Given the description of an element on the screen output the (x, y) to click on. 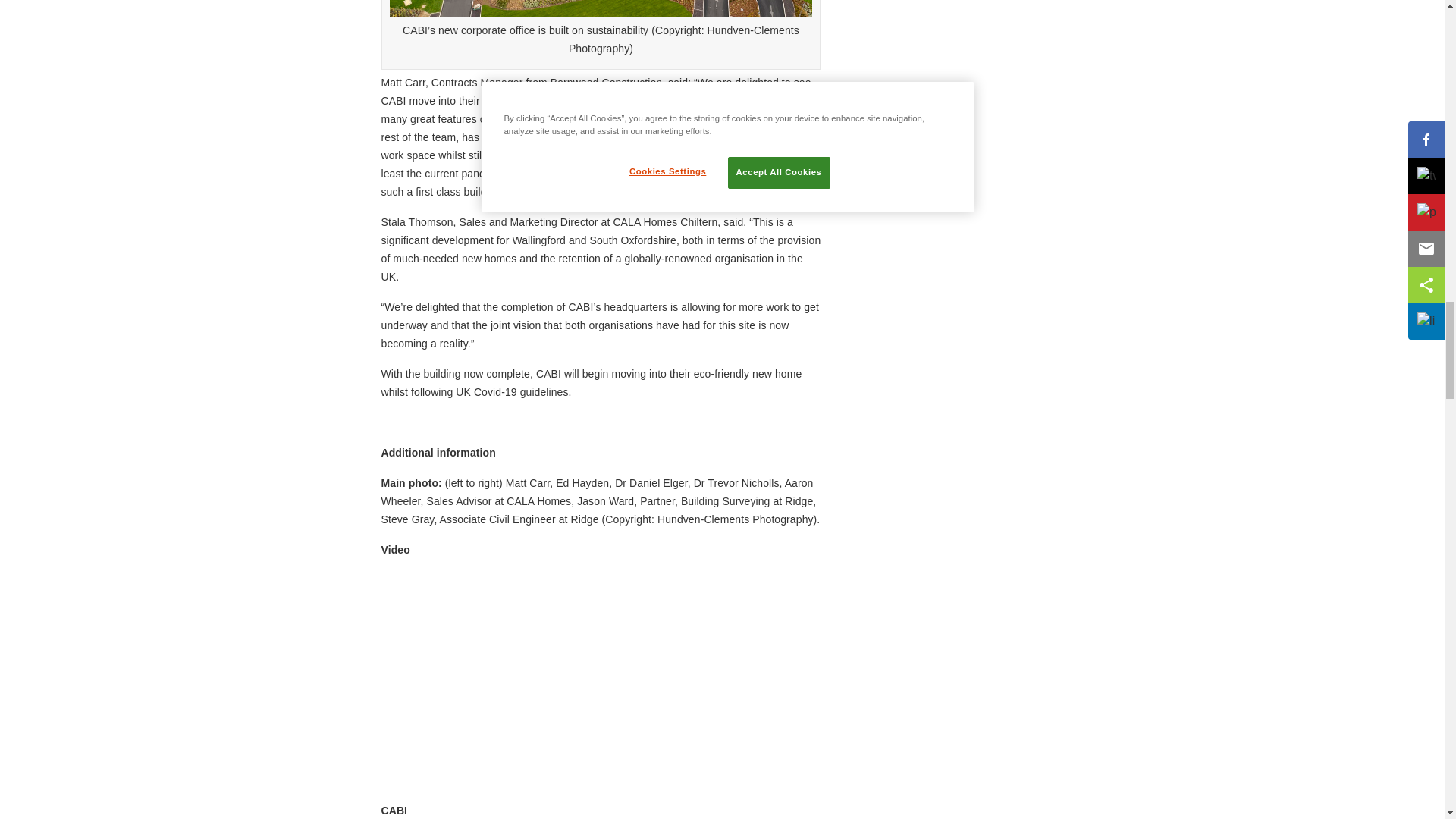
CABI's new Corporate Office (570, 676)
